Given the description of an element on the screen output the (x, y) to click on. 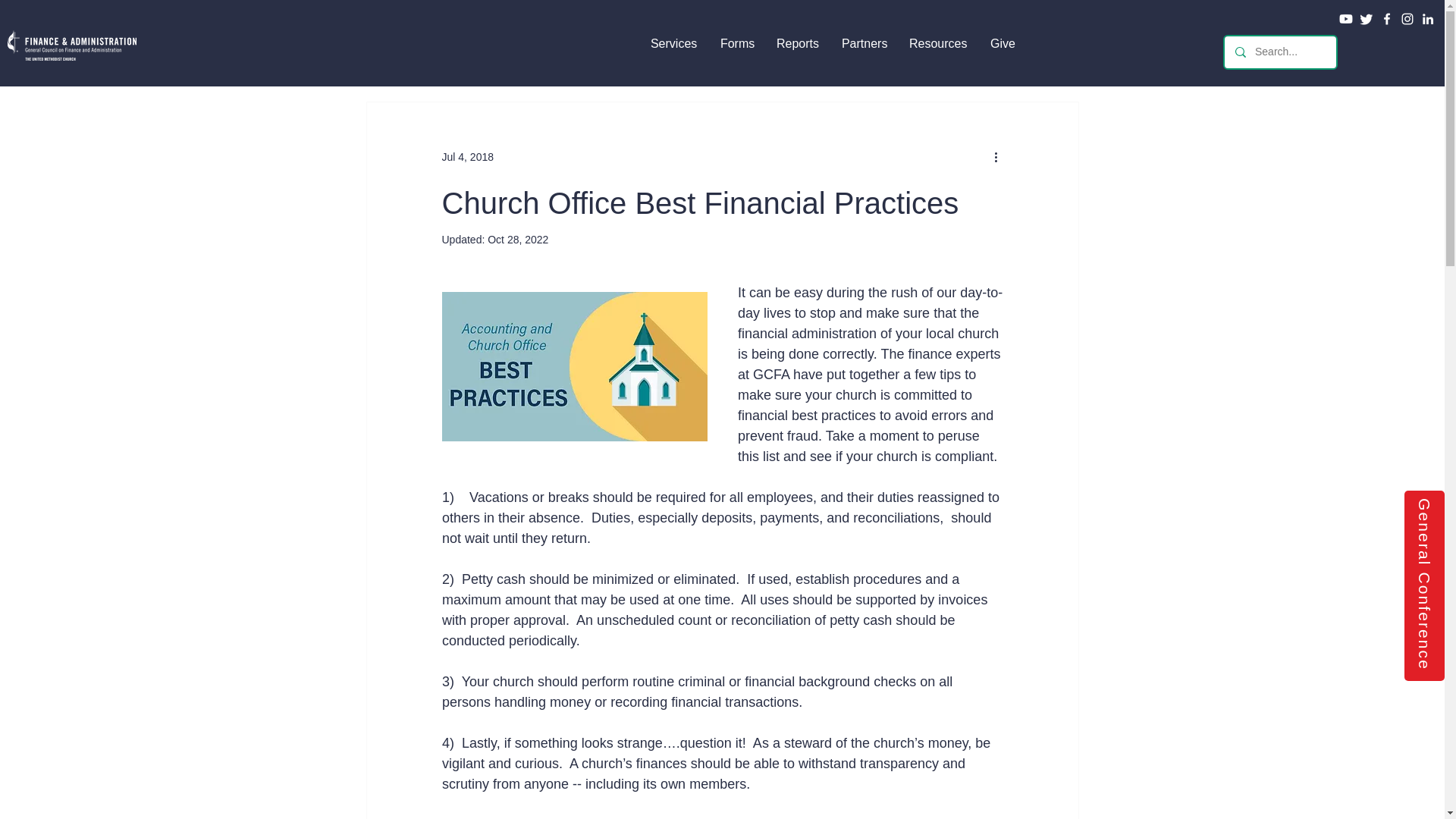
Oct 28, 2022 (517, 239)
Reports (797, 43)
Jul 4, 2018 (467, 155)
Resources (938, 43)
Partners (863, 43)
Services (674, 43)
Give (1002, 43)
Forms (737, 43)
